Given the description of an element on the screen output the (x, y) to click on. 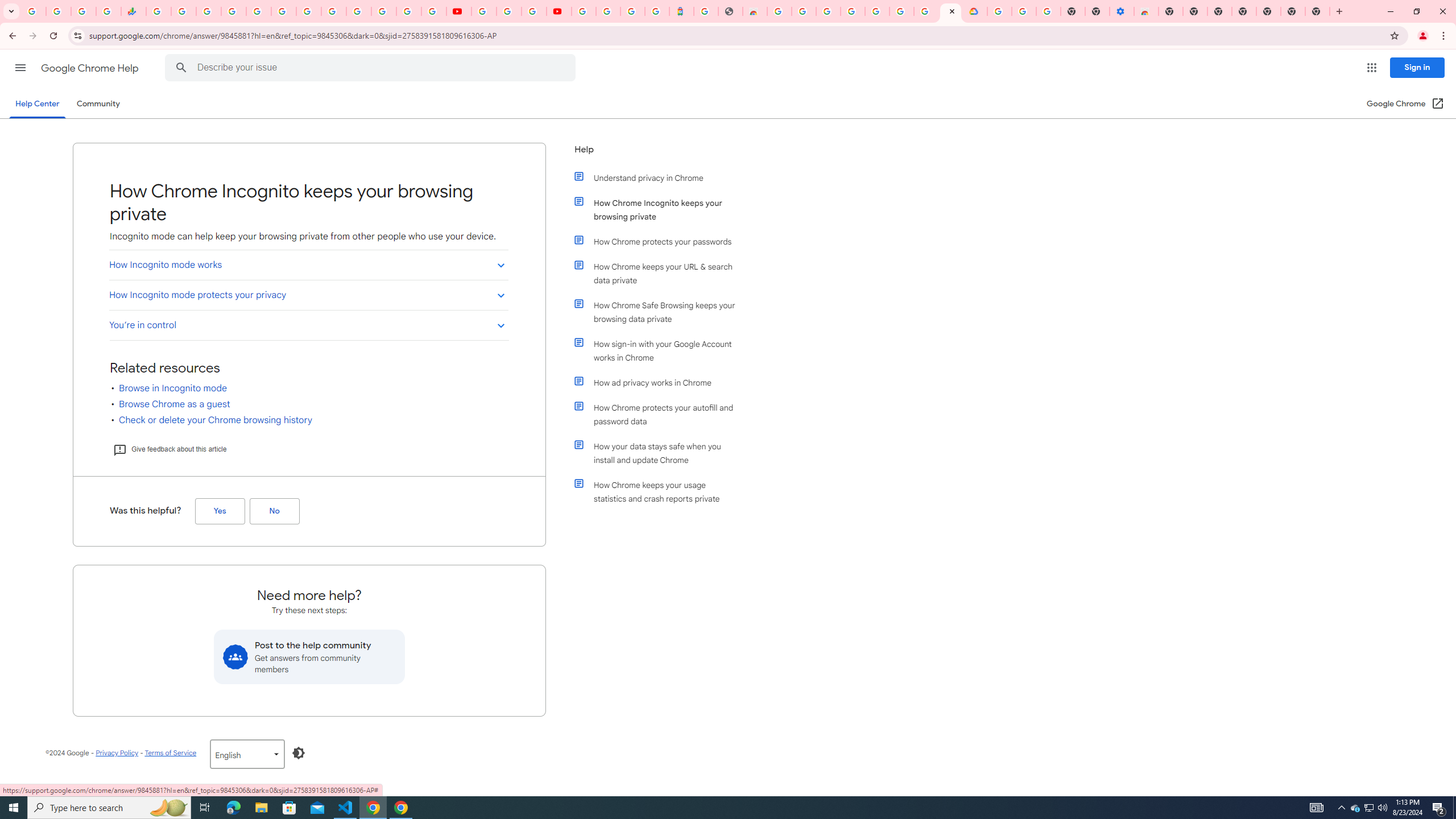
How Chrome keeps your URL & search data private (661, 273)
Sign in - Google Accounts (999, 11)
Sign in - Google Accounts (608, 11)
YouTube (483, 11)
Atour Hotel - Google hotels (680, 11)
How Chrome Safe Browsing keeps your browsing data private (661, 312)
YouTube (458, 11)
Google Chrome (Open in a new window) (1404, 103)
